Given the description of an element on the screen output the (x, y) to click on. 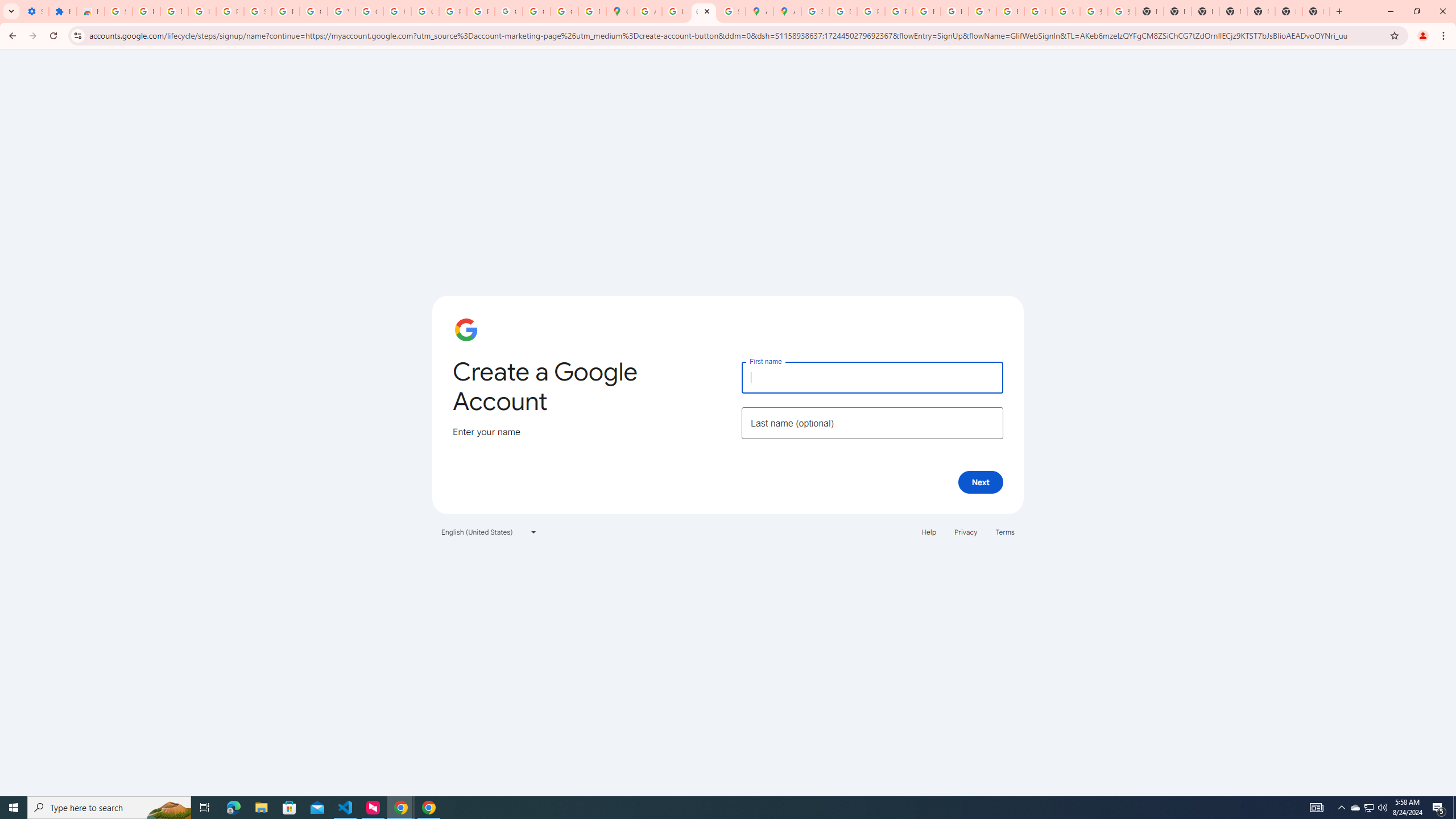
Sign in - Google Accounts (118, 11)
English (United States) (489, 531)
Google Maps (620, 11)
Google Account (313, 11)
New Tab (1288, 11)
